Given the description of an element on the screen output the (x, y) to click on. 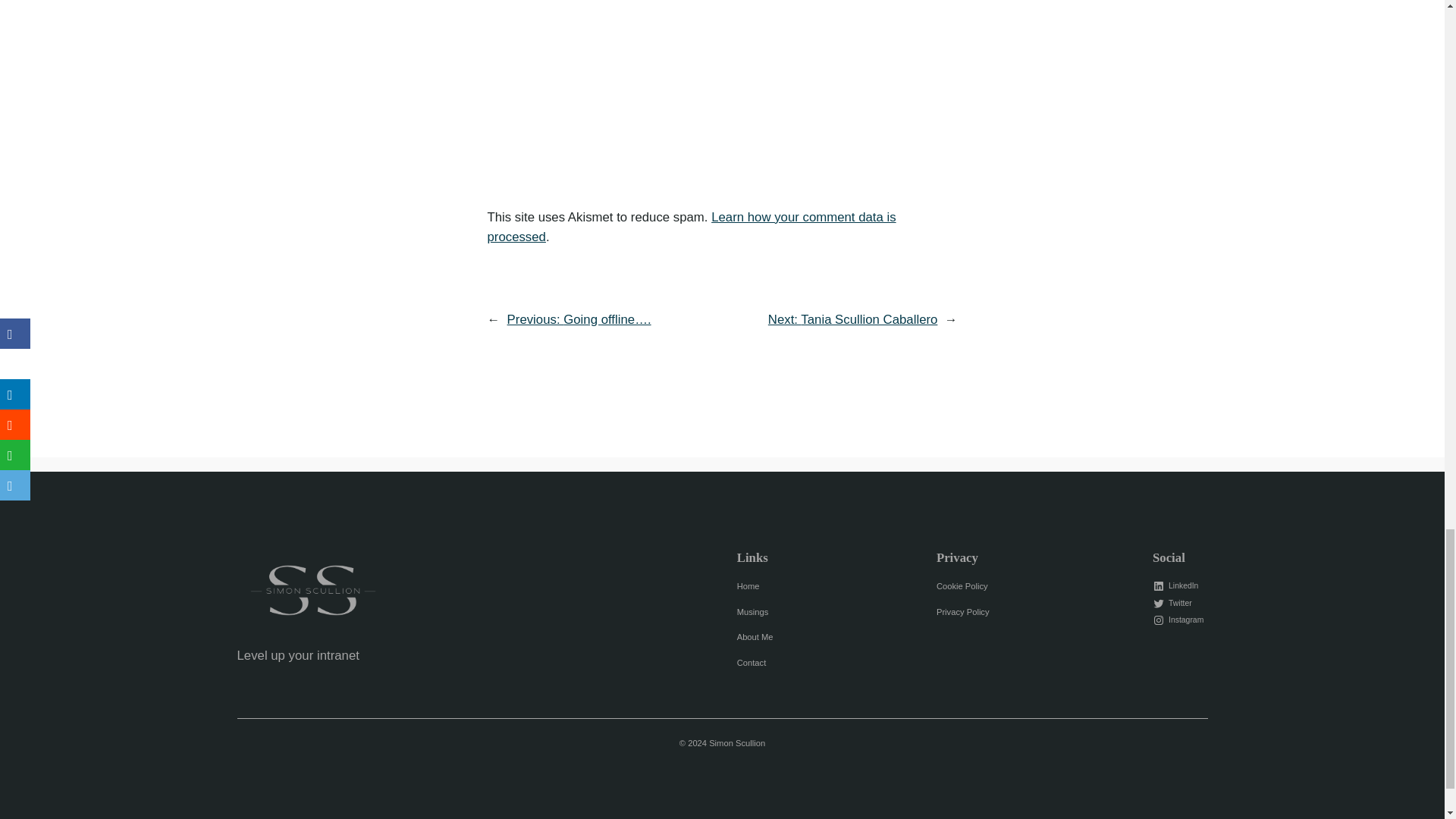
Musings (752, 612)
Cookie Policy (962, 585)
Twitter (1174, 603)
Contact (751, 662)
Privacy Policy (963, 612)
Comment Form (721, 85)
About Me (754, 636)
Home (748, 585)
Learn how your comment data is processed (690, 226)
Next: Tania Scullion Caballero (852, 319)
